Given the description of an element on the screen output the (x, y) to click on. 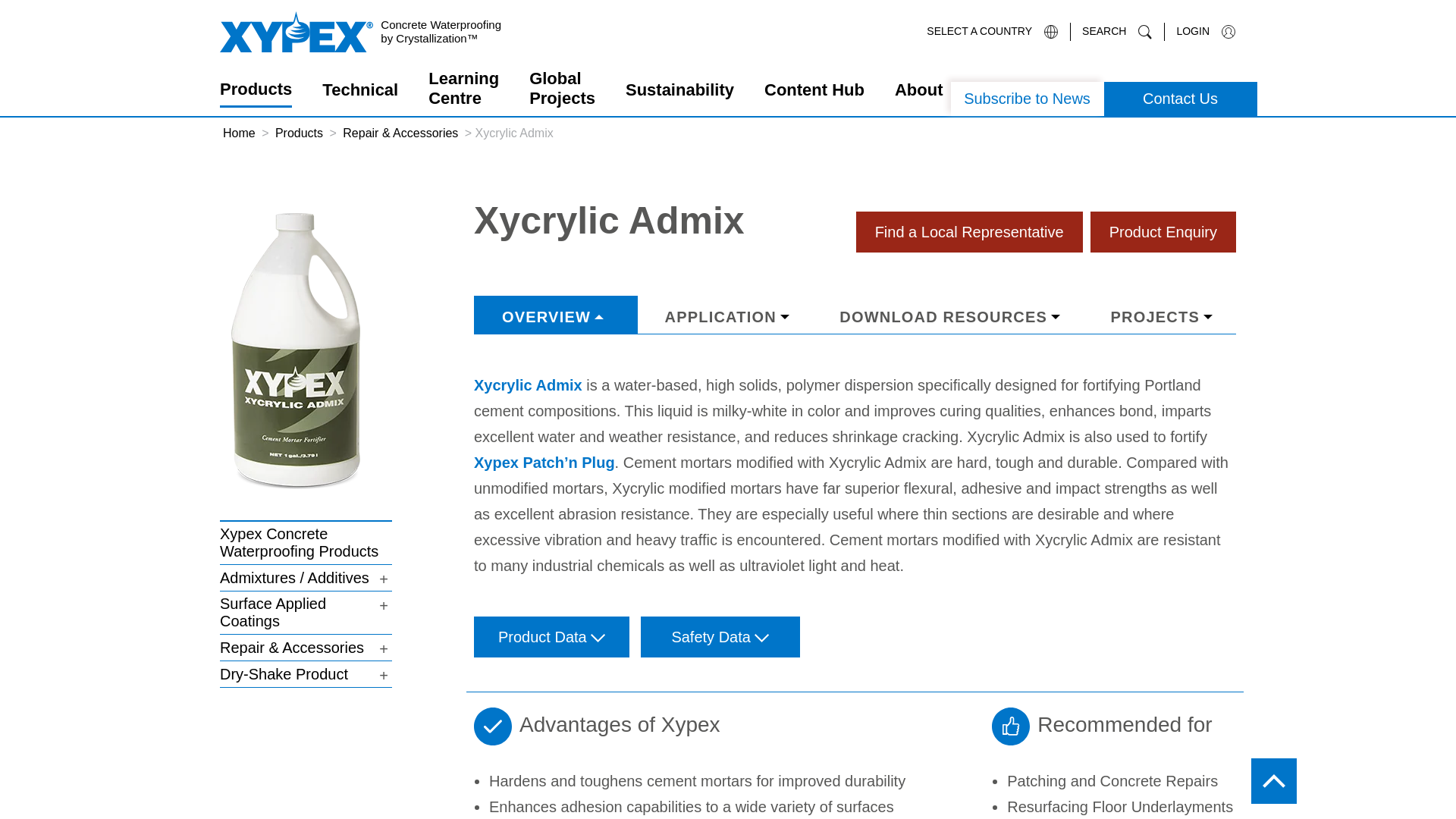
SEARCH (1111, 31)
Technical (359, 93)
Products (255, 93)
SELECT A COUNTRY (992, 31)
LOGIN (1199, 31)
